Given the description of an element on the screen output the (x, y) to click on. 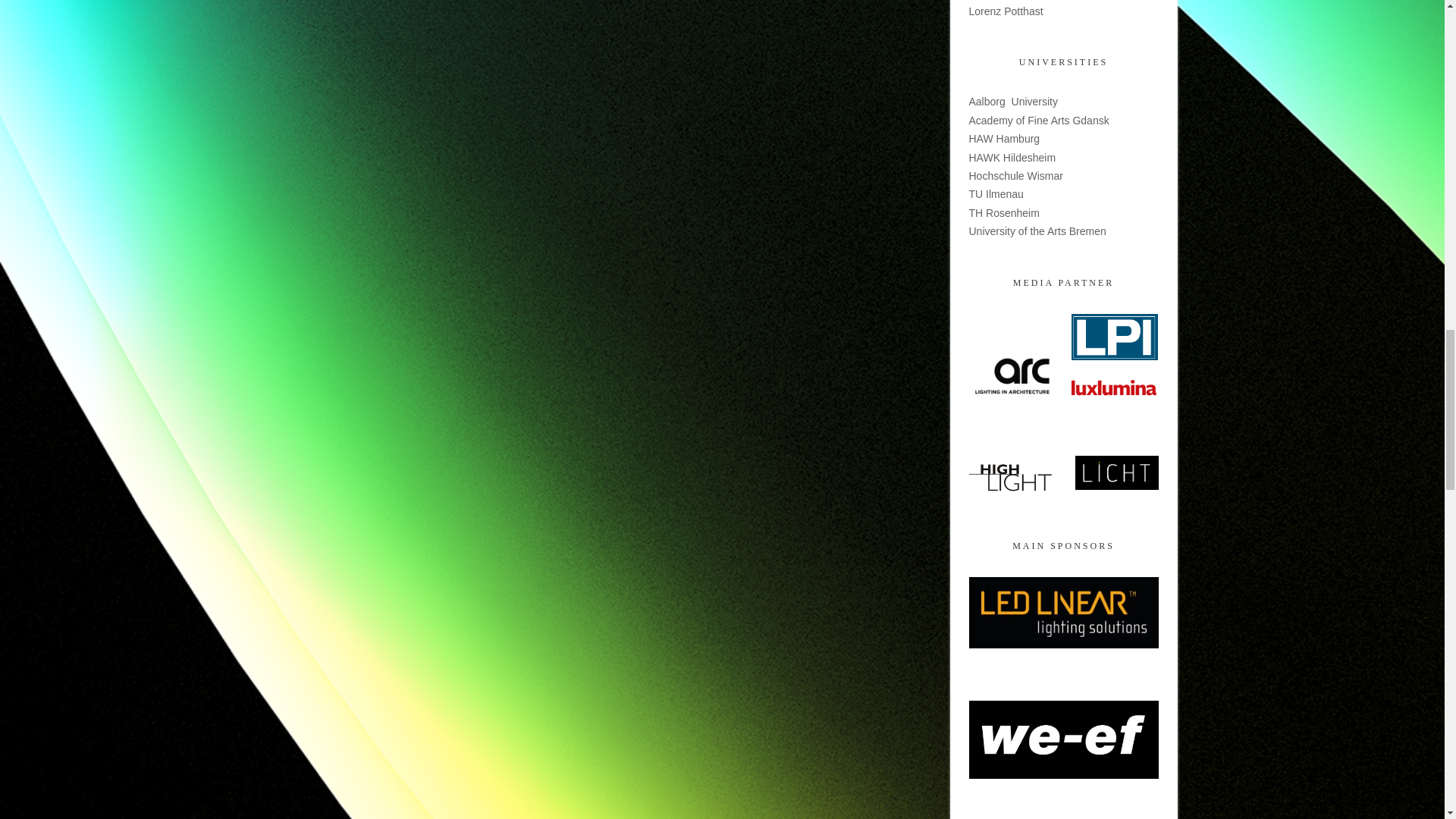
Aalborg  University (1013, 101)
TH Rosenheim (1004, 213)
Academy of Fine Arts Gdansk (1039, 120)
HAW Hamburg (1005, 138)
HAWK Hildesheim (1013, 157)
Hochschule Wismar (1015, 175)
University of the Arts Bremen (1037, 231)
TU Ilmenau (996, 193)
